Given the description of an element on the screen output the (x, y) to click on. 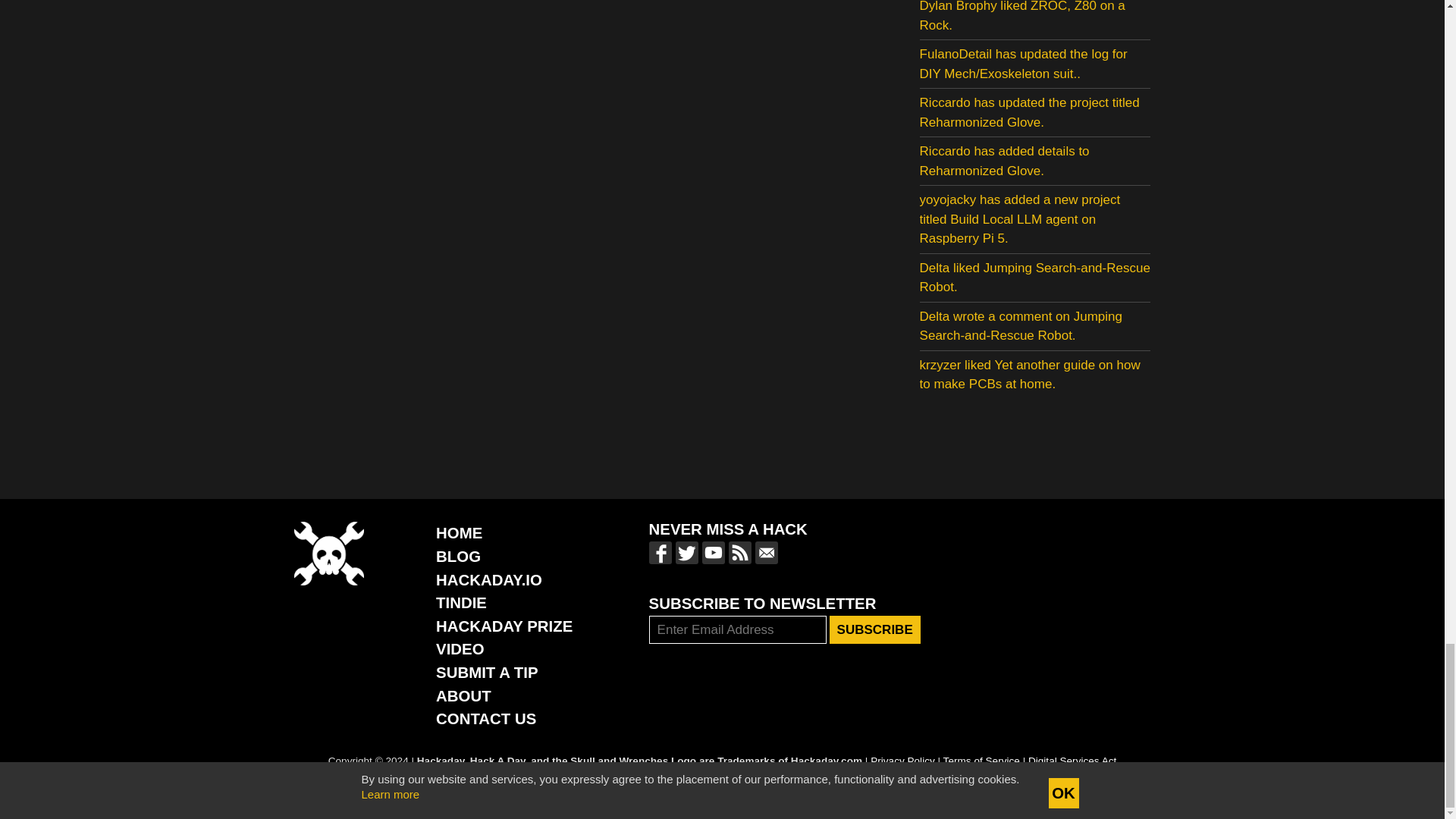
Subscribe (874, 629)
Build Something that Matters (503, 626)
